Given the description of an element on the screen output the (x, y) to click on. 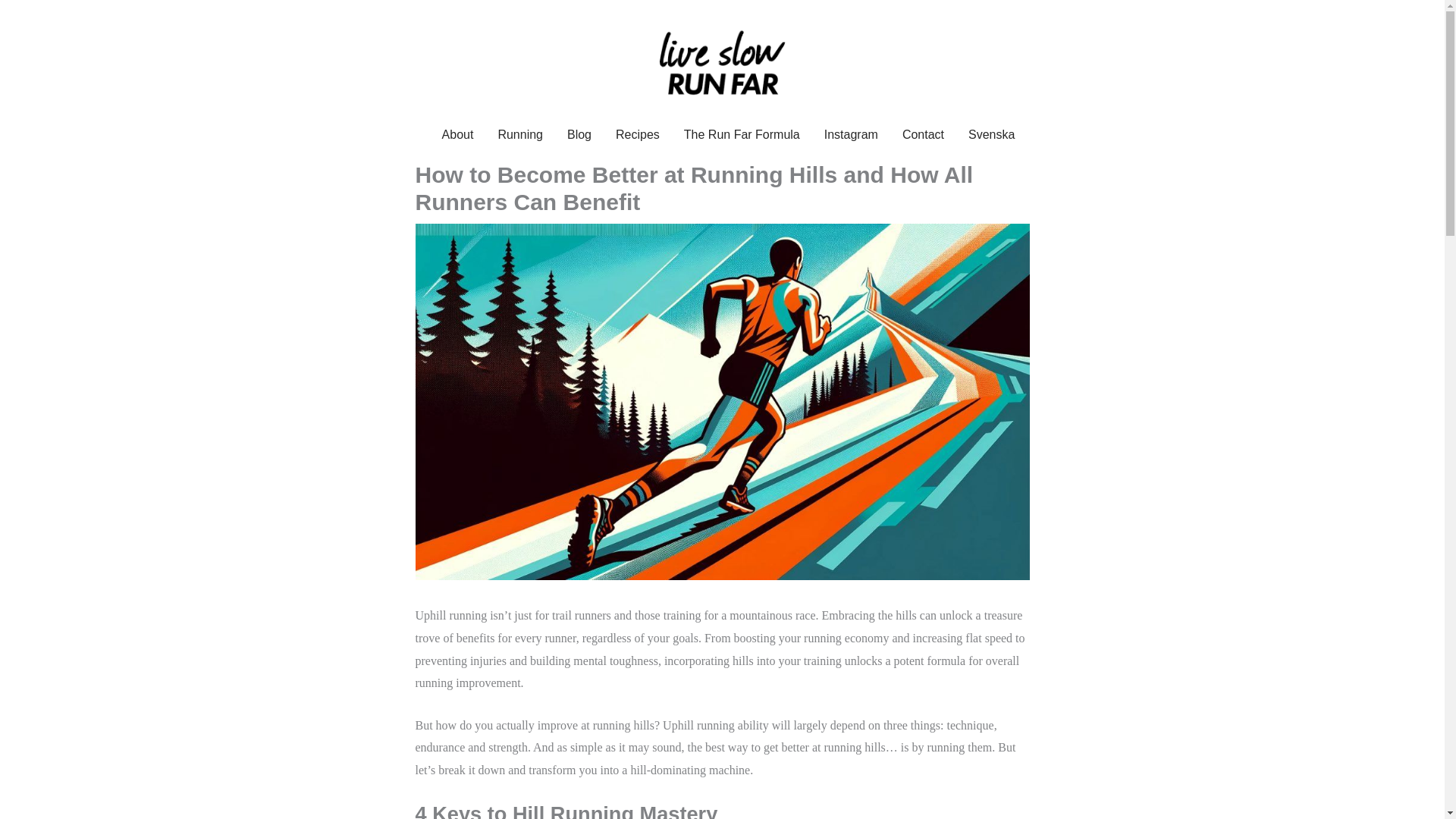
Instagram (850, 135)
Blog (579, 135)
Contact (922, 135)
Running (519, 135)
Recipes (637, 135)
Svenska (985, 135)
The Run Far Formula (741, 135)
About (457, 135)
